Given the description of an element on the screen output the (x, y) to click on. 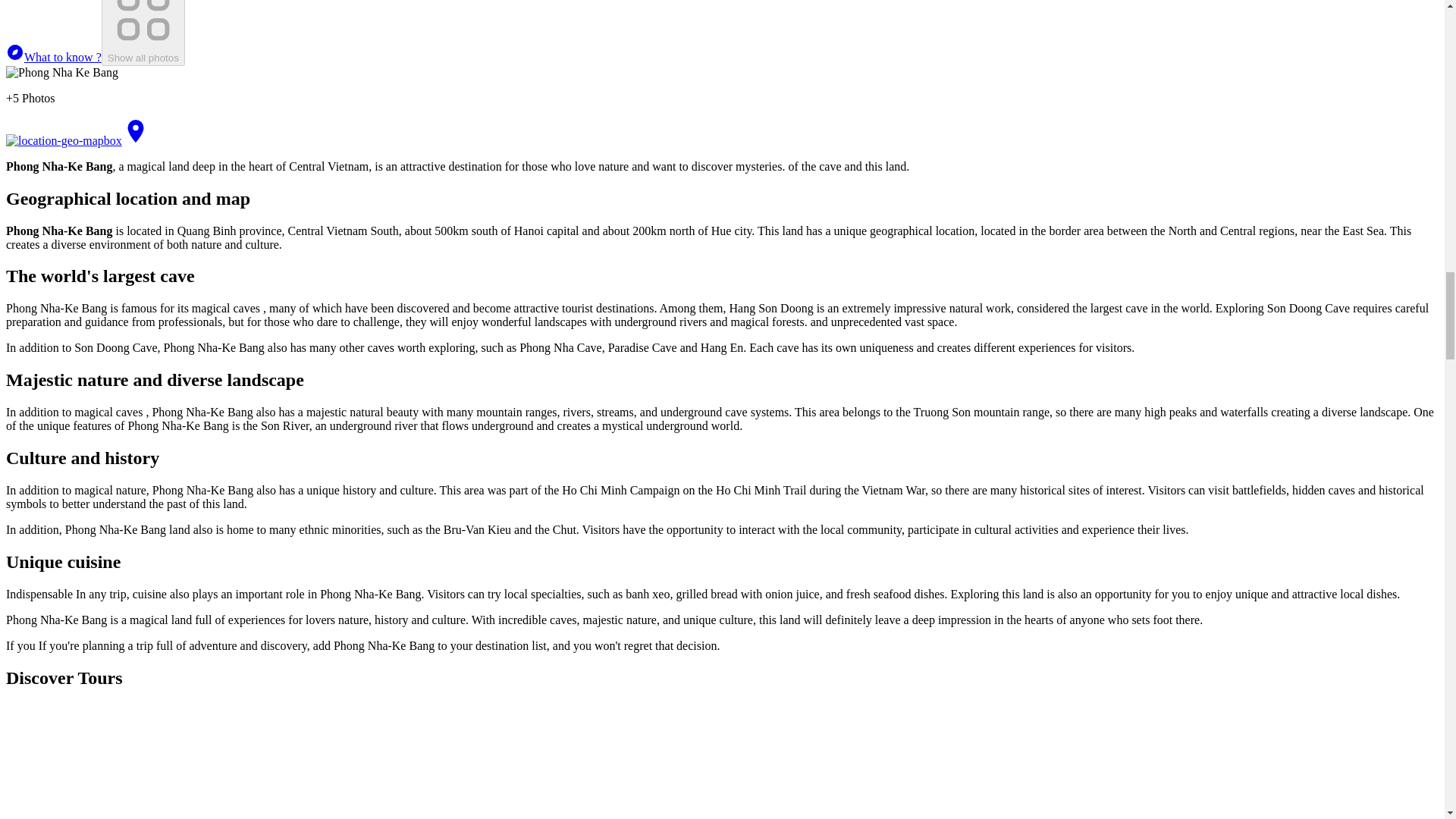
Show all photos (142, 33)
What to know ? (53, 56)
